Given the description of an element on the screen output the (x, y) to click on. 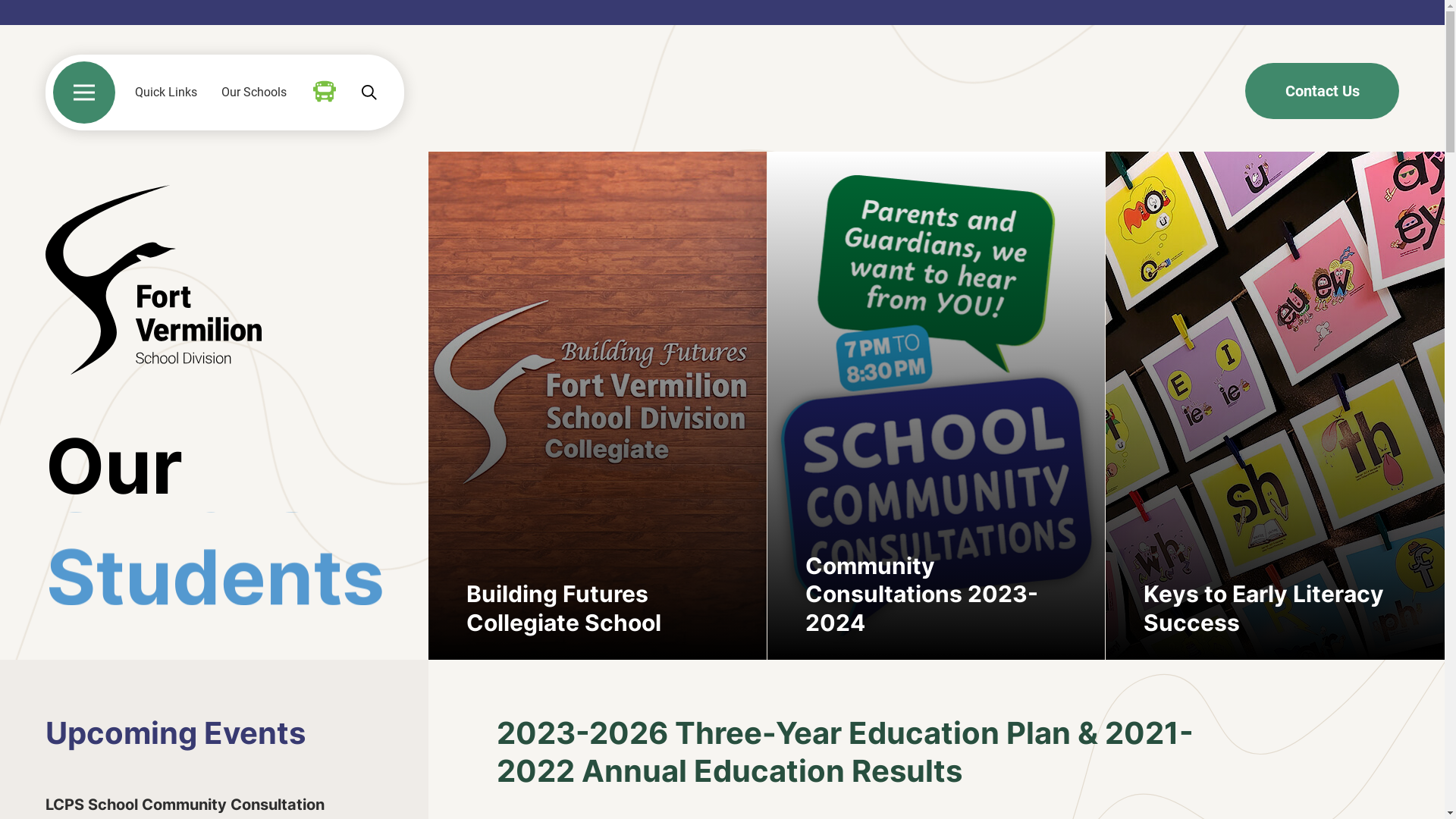
Keys to Early Literacy Success Element type: text (1274, 405)
Community Consultations 2023-2024 Element type: text (936, 405)
Menu Element type: text (84, 92)
Contact Us Element type: text (1322, 90)
Our Schools Element type: text (253, 92)
Toggle Search Element type: text (369, 92)
Building Futures Collegiate School Element type: text (597, 405)
Quick Links Element type: text (165, 92)
Bus Status Element type: hover (324, 91)
